Given the description of an element on the screen output the (x, y) to click on. 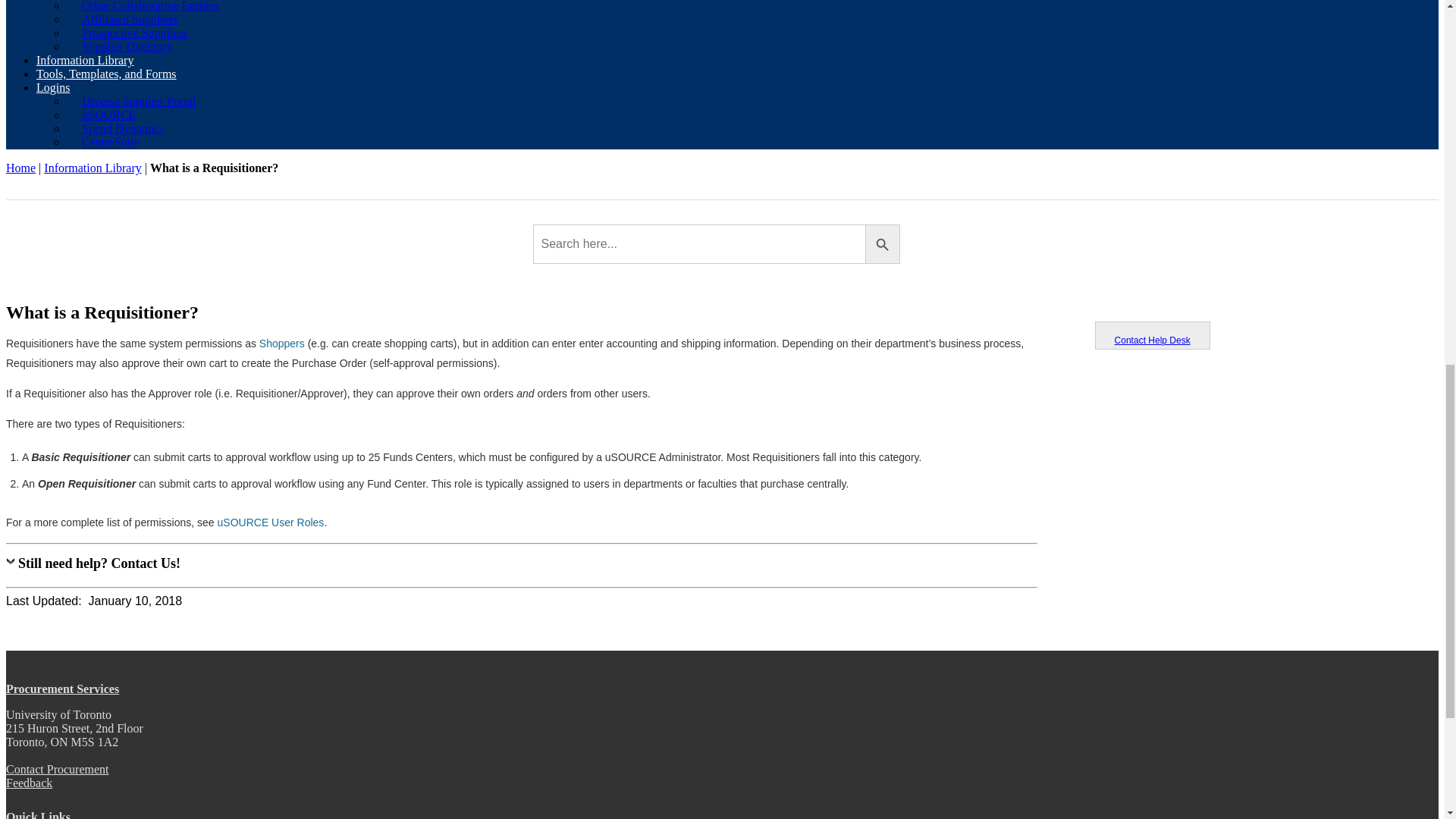
Other Collaborative Entities (149, 9)
Diverse Supplier Portal (138, 2)
